Given the description of an element on the screen output the (x, y) to click on. 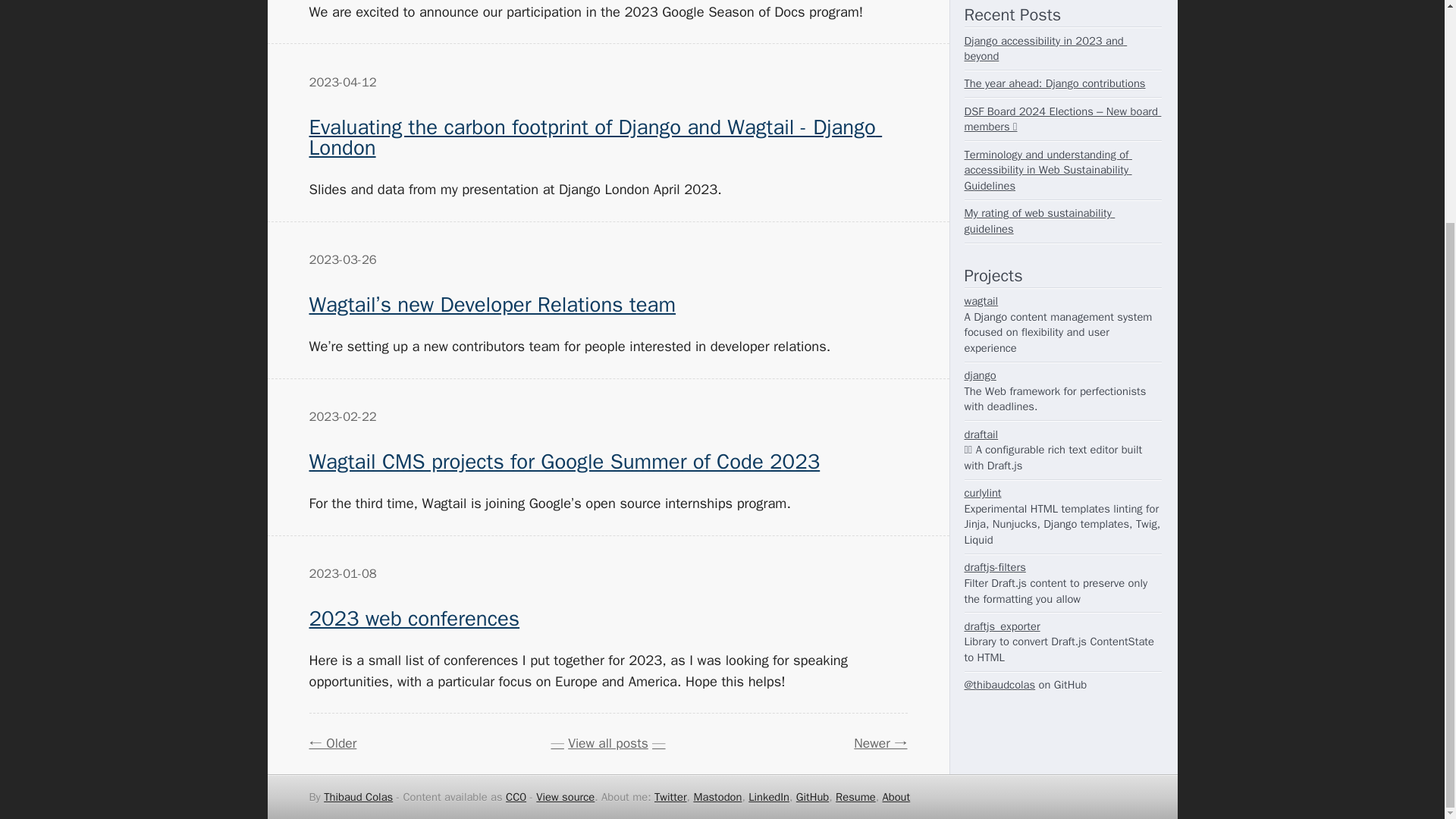
Thibaud Colas (358, 796)
2023 web conferences (413, 618)
Mastodon (717, 796)
CC0 (515, 796)
Resume (855, 796)
Twitter (670, 796)
View all posts (608, 742)
View source (564, 796)
Wagtail CMS projects for Google Summer of Code 2023 (564, 461)
